Given the description of an element on the screen output the (x, y) to click on. 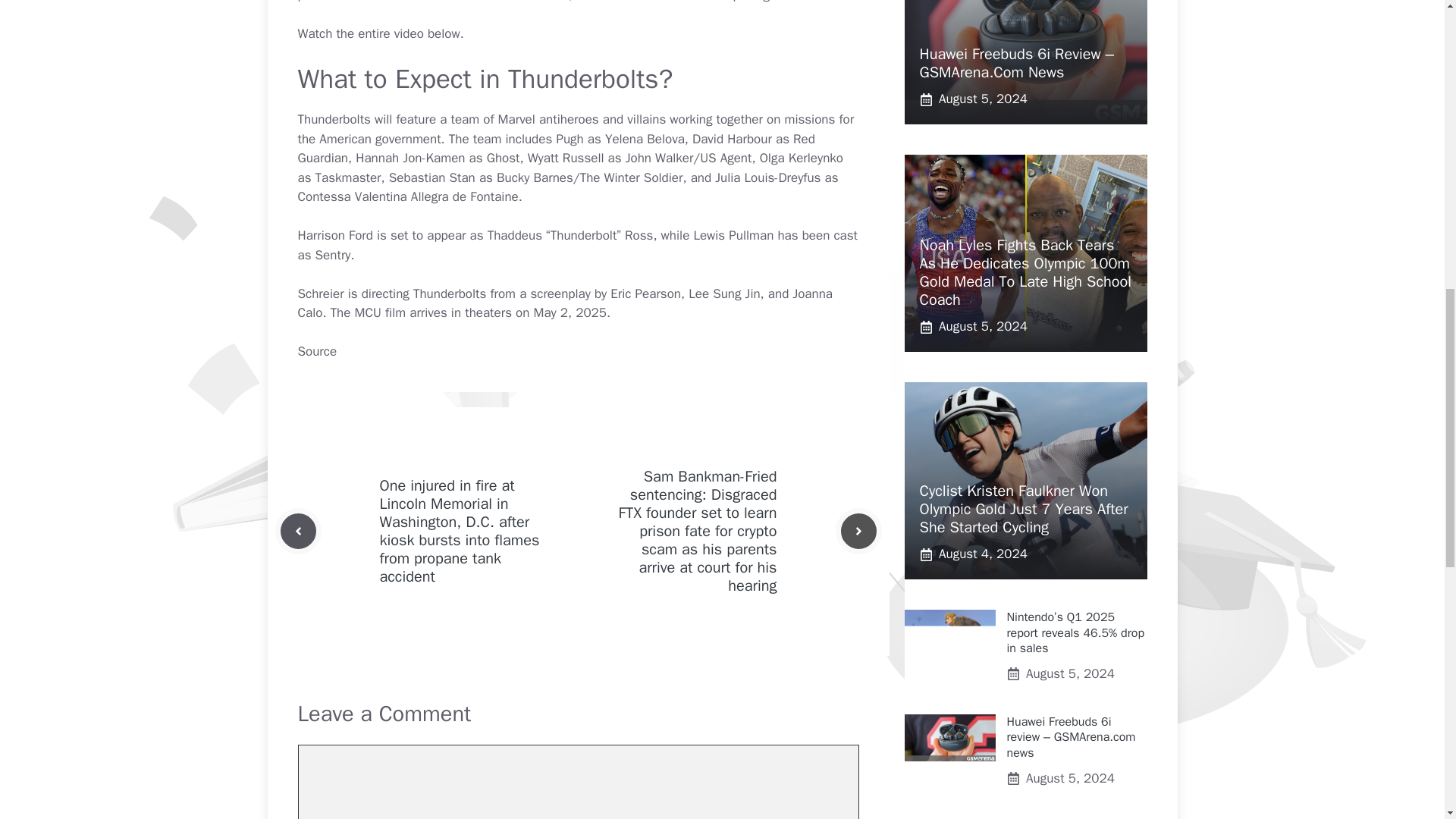
Source (316, 351)
Scroll back to top (1406, 720)
